Given the description of an element on the screen output the (x, y) to click on. 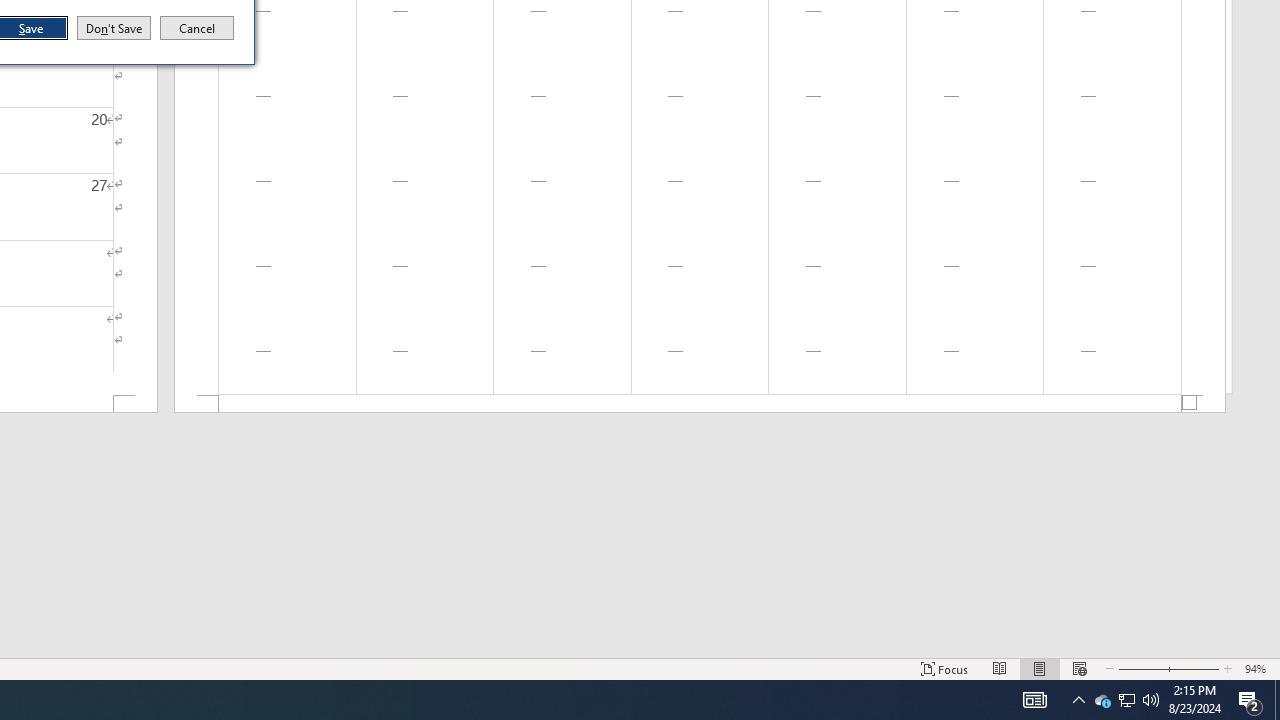
Footer -Section 1- (1102, 699)
Action Center, 2 new notifications (700, 404)
